Given the description of an element on the screen output the (x, y) to click on. 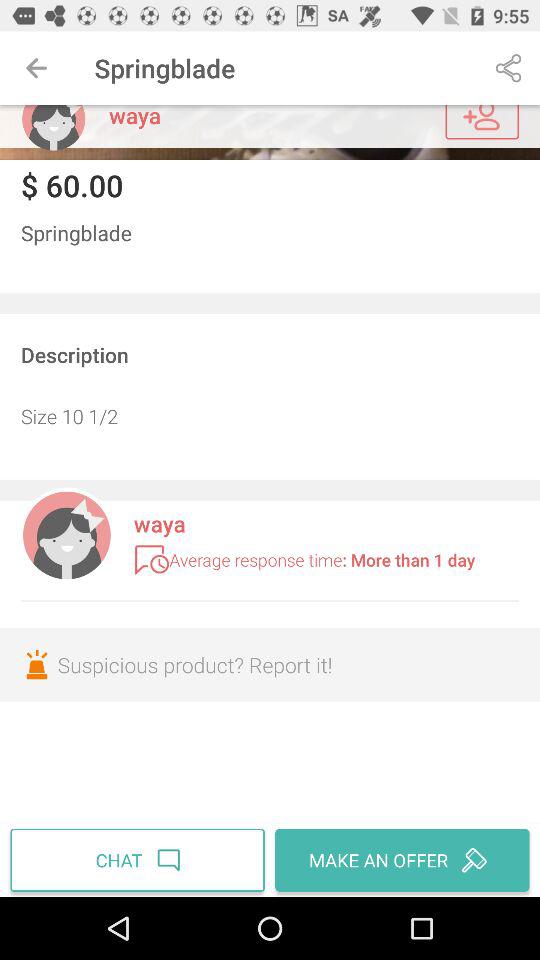
add user (482, 122)
